Given the description of an element on the screen output the (x, y) to click on. 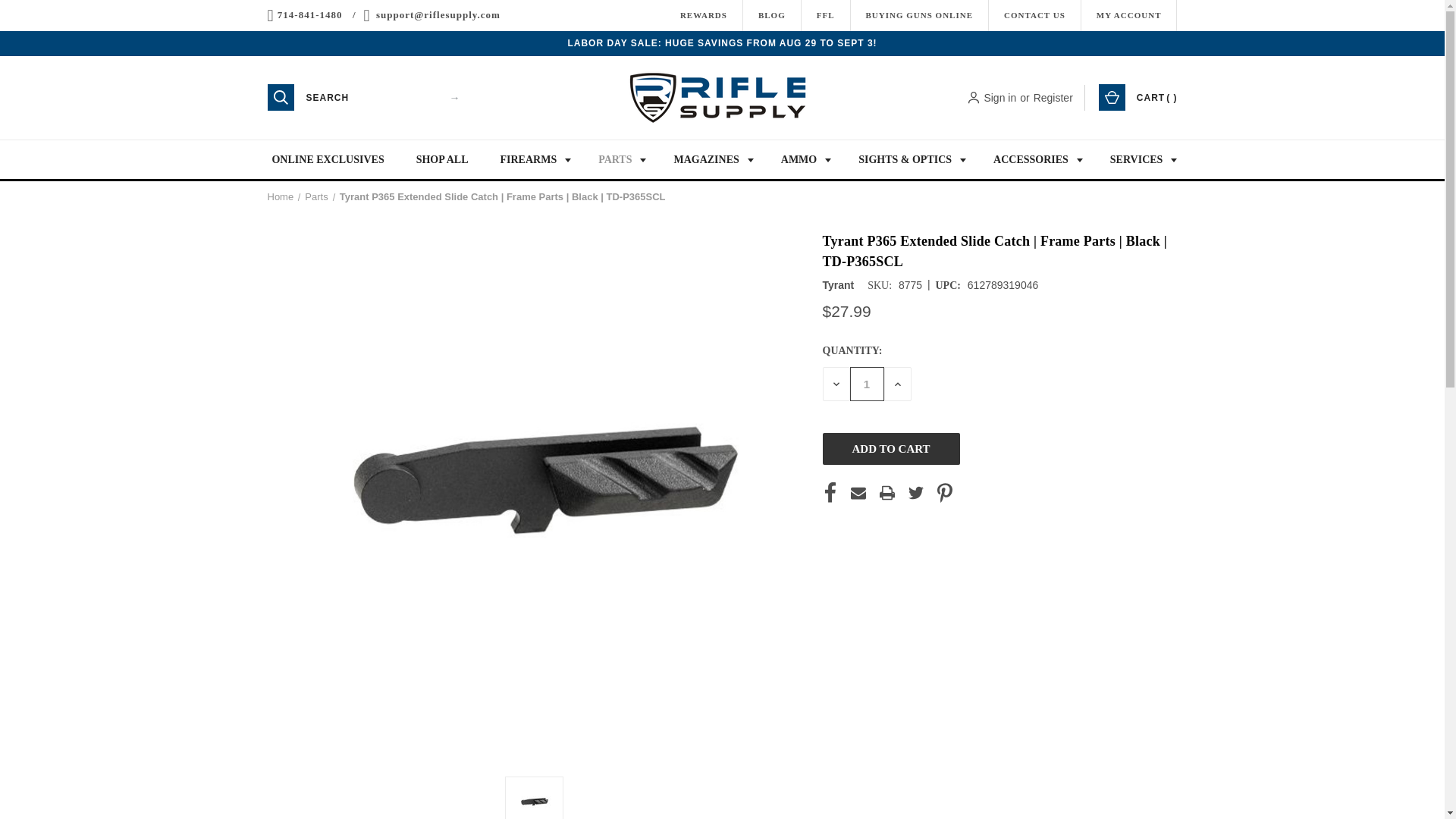
SHOP ALL (442, 159)
REWARDS (702, 14)
PARTS (619, 159)
CART (1136, 97)
CONTACT US (1034, 14)
Add to Cart (890, 449)
MY ACCOUNT (1128, 14)
BUYING GUNS ONLINE (919, 14)
1 (865, 383)
FFL (825, 14)
